Given the description of an element on the screen output the (x, y) to click on. 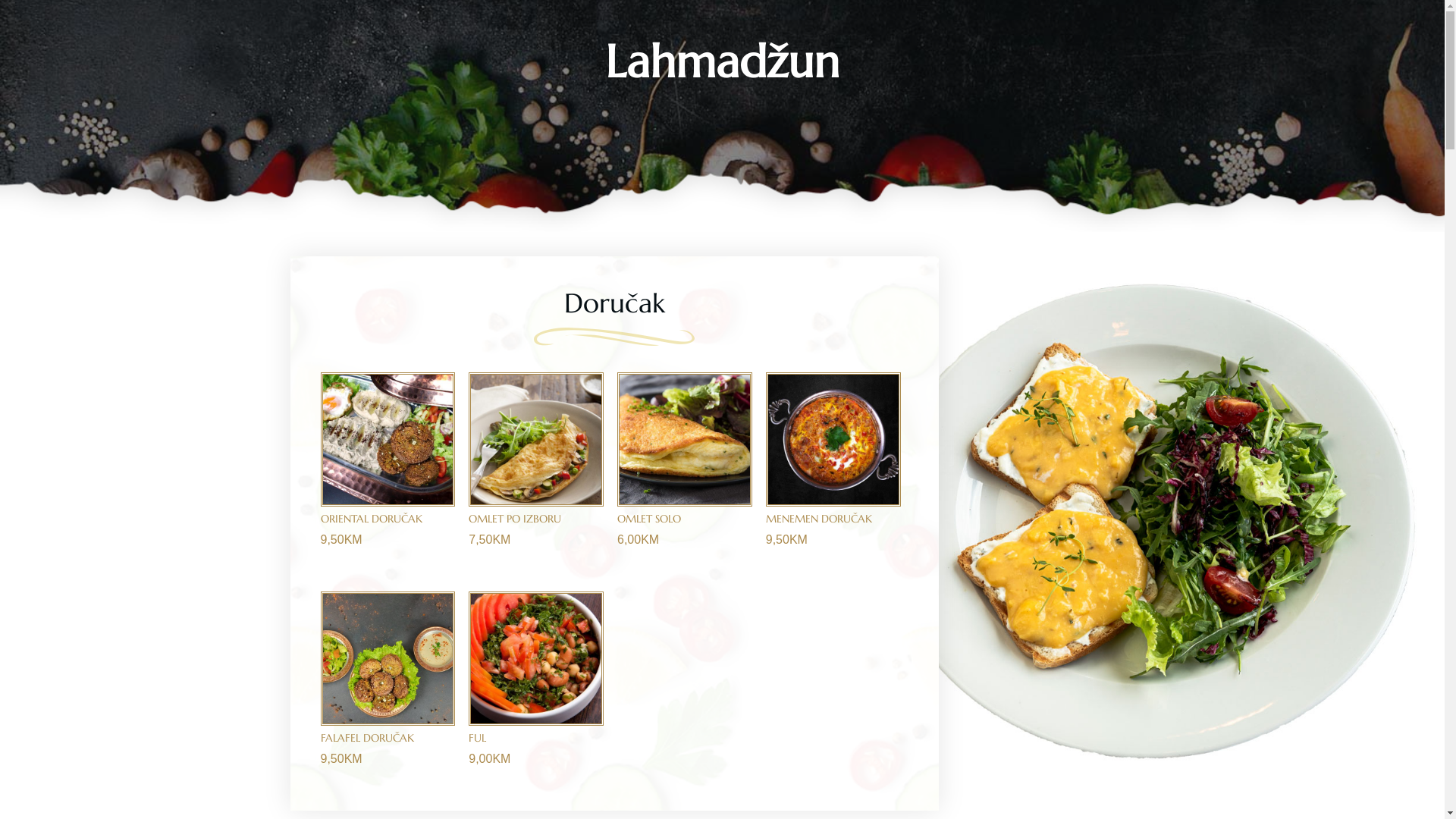
OMLET PO IZBORU
7,50KM Element type: text (535, 465)
FUL
9,00KM Element type: text (535, 685)
OMLET SOLO
6,00KM Element type: text (684, 465)
